Given the description of an element on the screen output the (x, y) to click on. 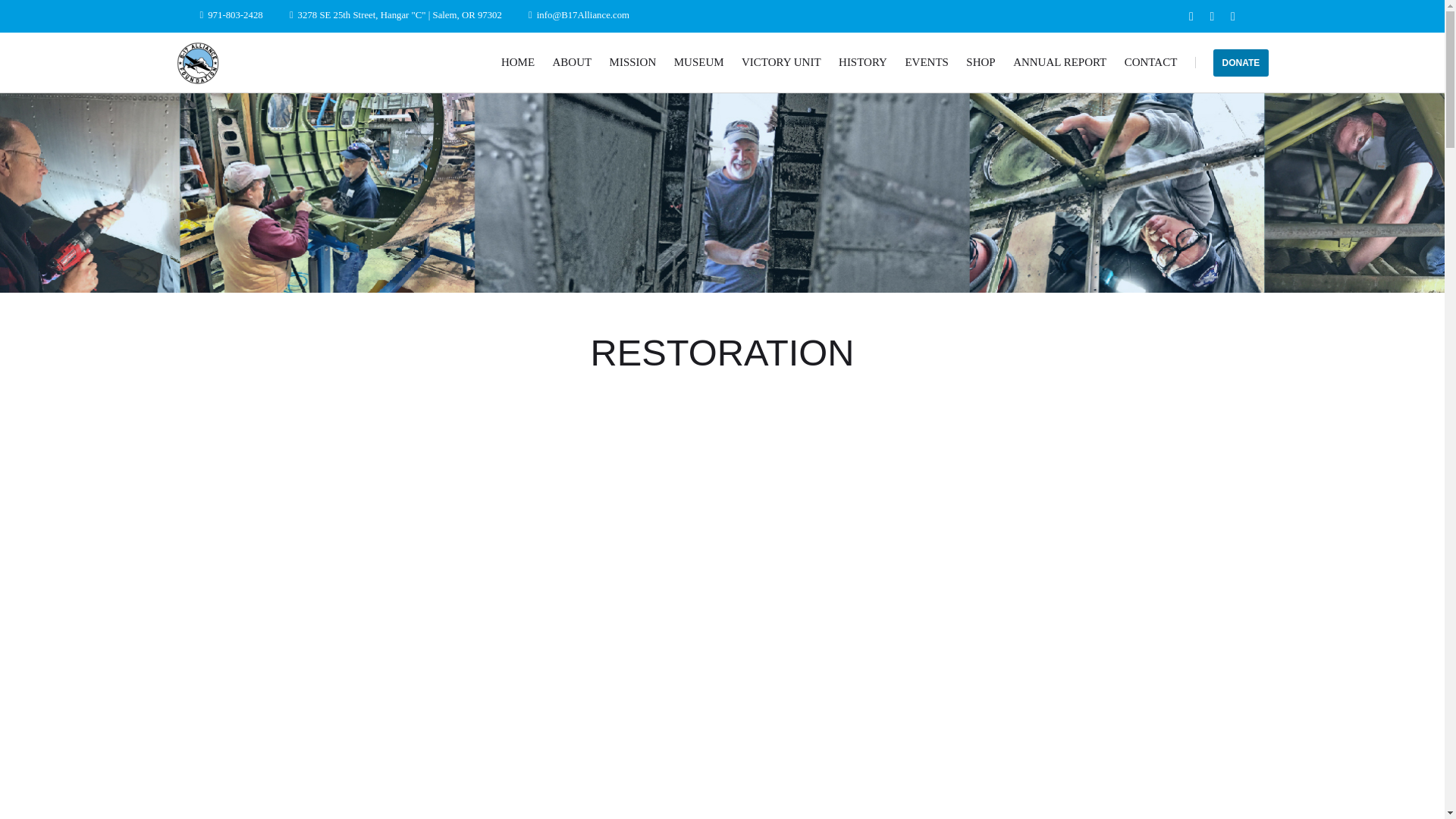
ABOUT (571, 61)
VICTORY UNIT (781, 61)
HISTORY (862, 61)
CONTACT (1150, 61)
ANNUAL REPORT (1059, 61)
EVENTS (926, 61)
MUSEUM (698, 61)
MISSION (633, 61)
SHOP (980, 61)
HOME (517, 61)
DONATE (1240, 62)
971-803-2428 (235, 14)
